Given the description of an element on the screen output the (x, y) to click on. 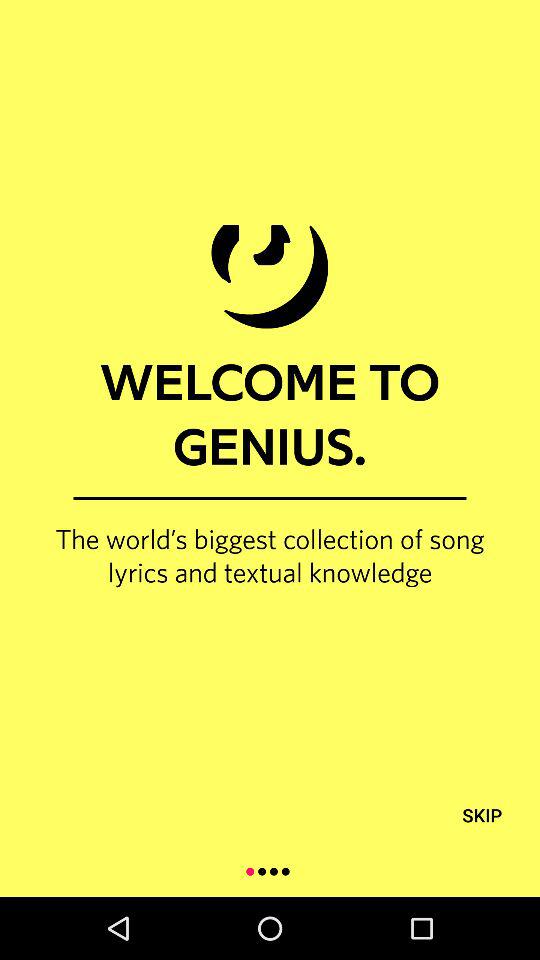
swipe to skip icon (482, 814)
